Given the description of an element on the screen output the (x, y) to click on. 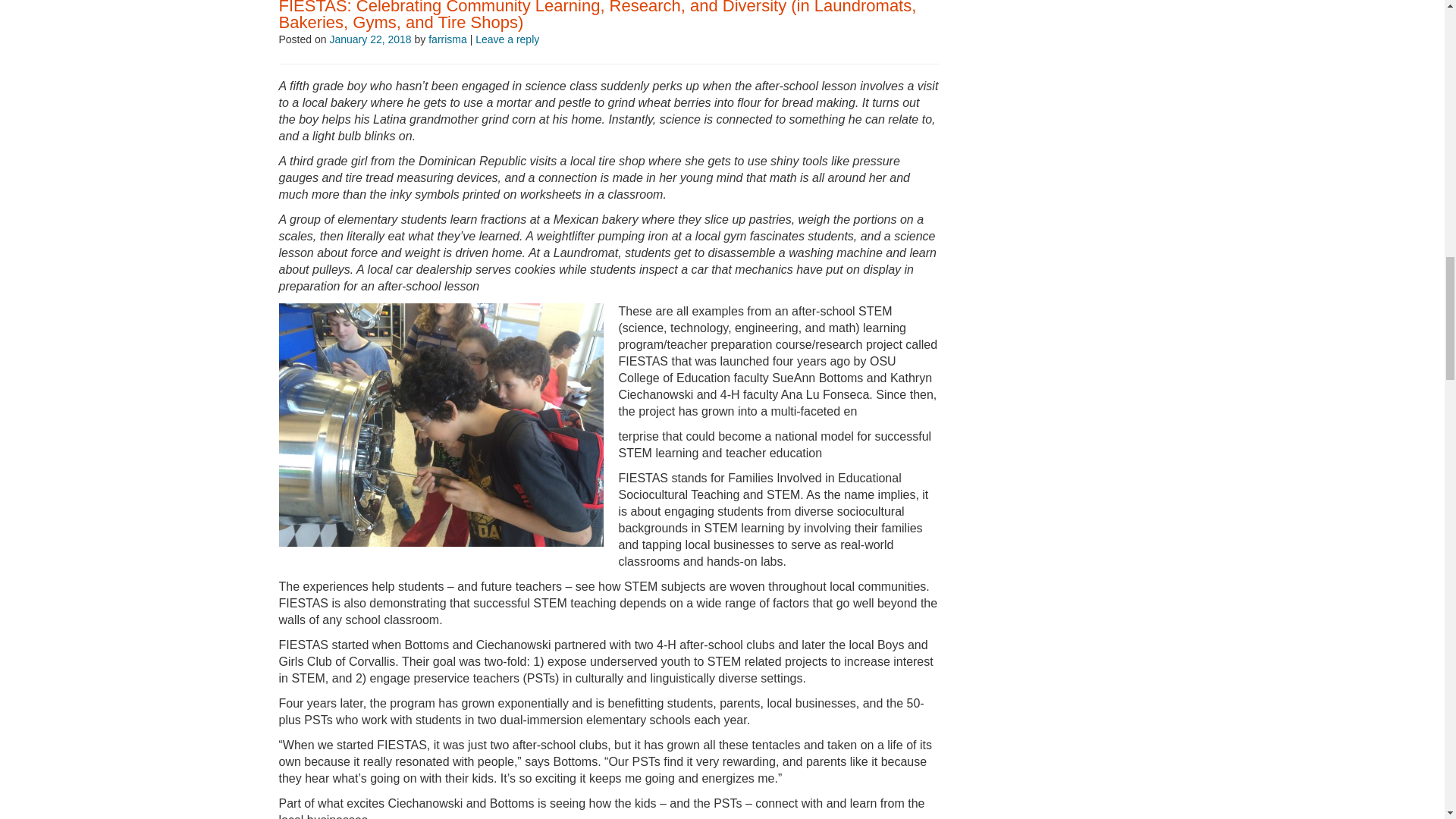
farrisma (447, 39)
View all posts by farrisma (447, 39)
4:43 pm (369, 39)
Leave a reply (507, 39)
January 22, 2018 (369, 39)
